Given the description of an element on the screen output the (x, y) to click on. 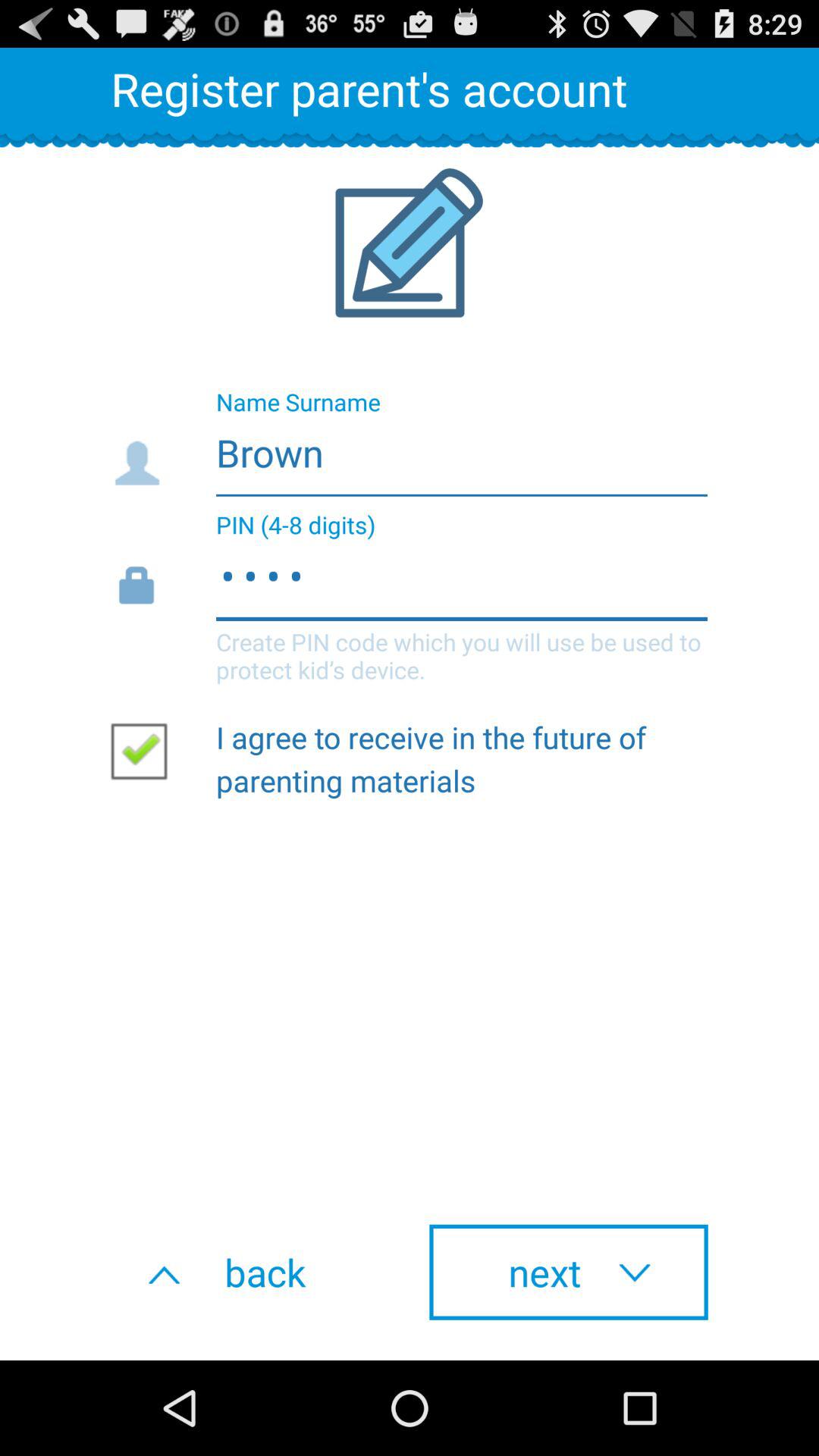
tap item to the left of i agree to icon (145, 750)
